Given the description of an element on the screen output the (x, y) to click on. 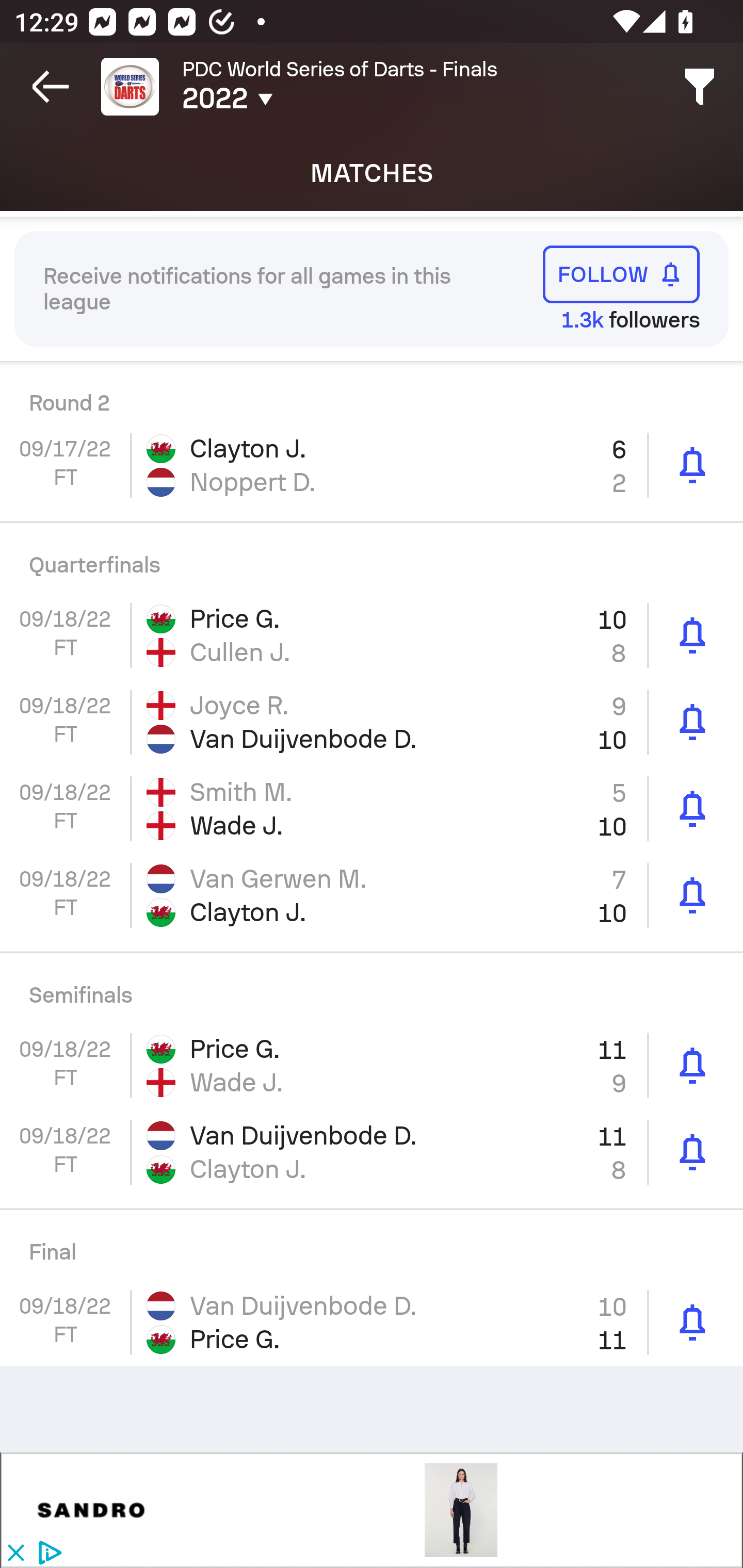
Navigate up (50, 86)
Find (699, 86)
2022 (300, 98)
FOLLOW (621, 274)
09/17/22 FT Smith M. 6 Wright P. 4 (371, 390)
09/17/22 FT Clayton J. 6 Noppert D. 2 (371, 464)
Quarterfinals (371, 557)
09/18/22 FT Price G. 10 Cullen J. 8 (371, 635)
09/18/22 FT Joyce R. 10 9 Van Duijvenbode D. (371, 721)
09/18/22 FT Smith M. 10 5 Wade J. (371, 808)
09/18/22 FT Van Gerwen M. 10 7 Clayton J. (371, 895)
Semifinals (371, 987)
09/18/22 FT Price G. 11 Wade J. 9 (371, 1065)
09/18/22 FT Van Duijvenbode D. 11 Clayton J. 8 (371, 1151)
Final (371, 1244)
09/18/22 FT Van Duijvenbode D. 10 Price G. 11 (371, 1322)
   (91, 1509)
   (461, 1510)
close_button (14, 1553)
privacy_small (47, 1553)
